Given the description of an element on the screen output the (x, y) to click on. 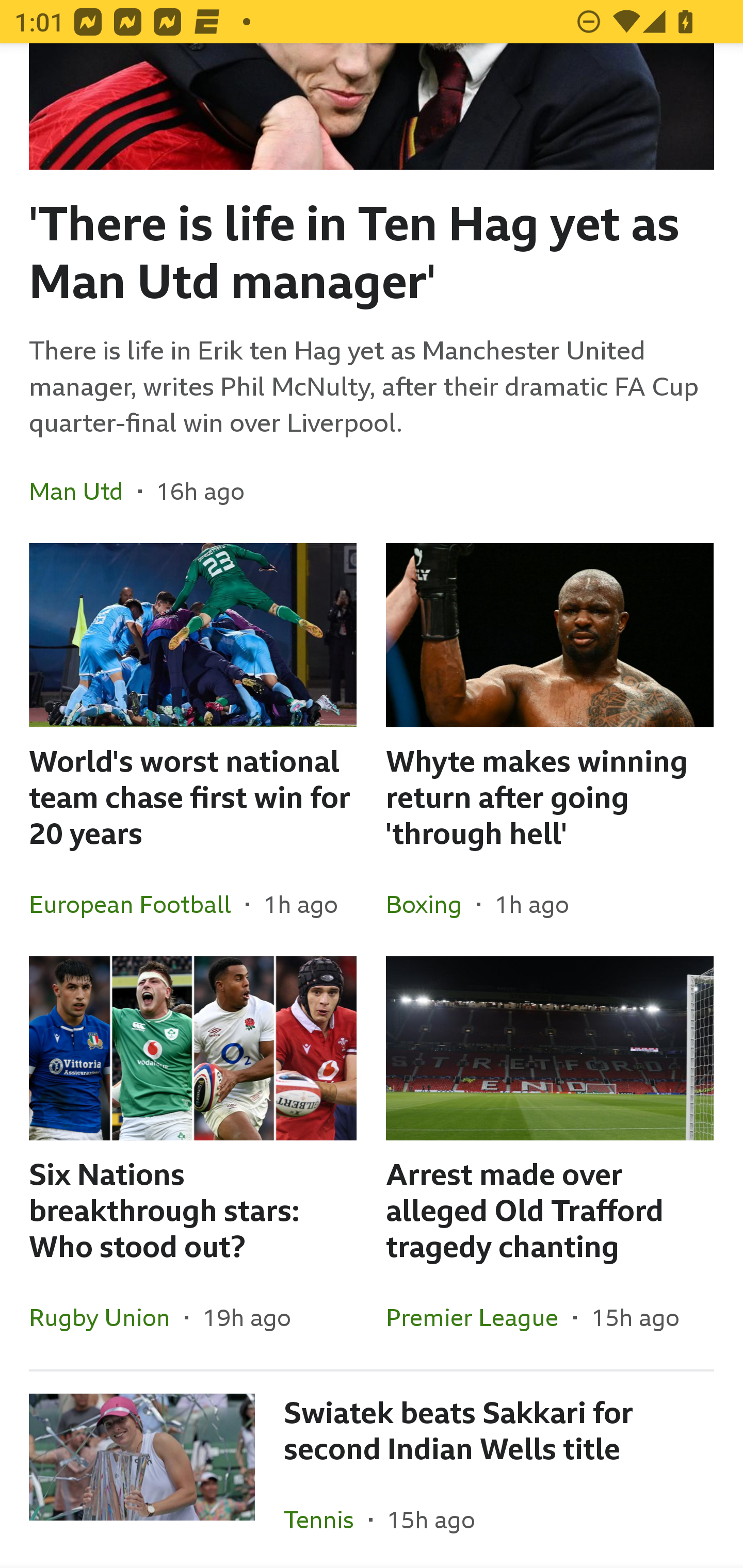
Man Utd In the section Man Utd (83, 490)
European Football In the section European Football (136, 903)
Boxing In the section Boxing (431, 903)
Rugby Union In the section Rugby Union (106, 1316)
Premier League In the section Premier League (479, 1316)
Tennis In the section Tennis (326, 1517)
